Given the description of an element on the screen output the (x, y) to click on. 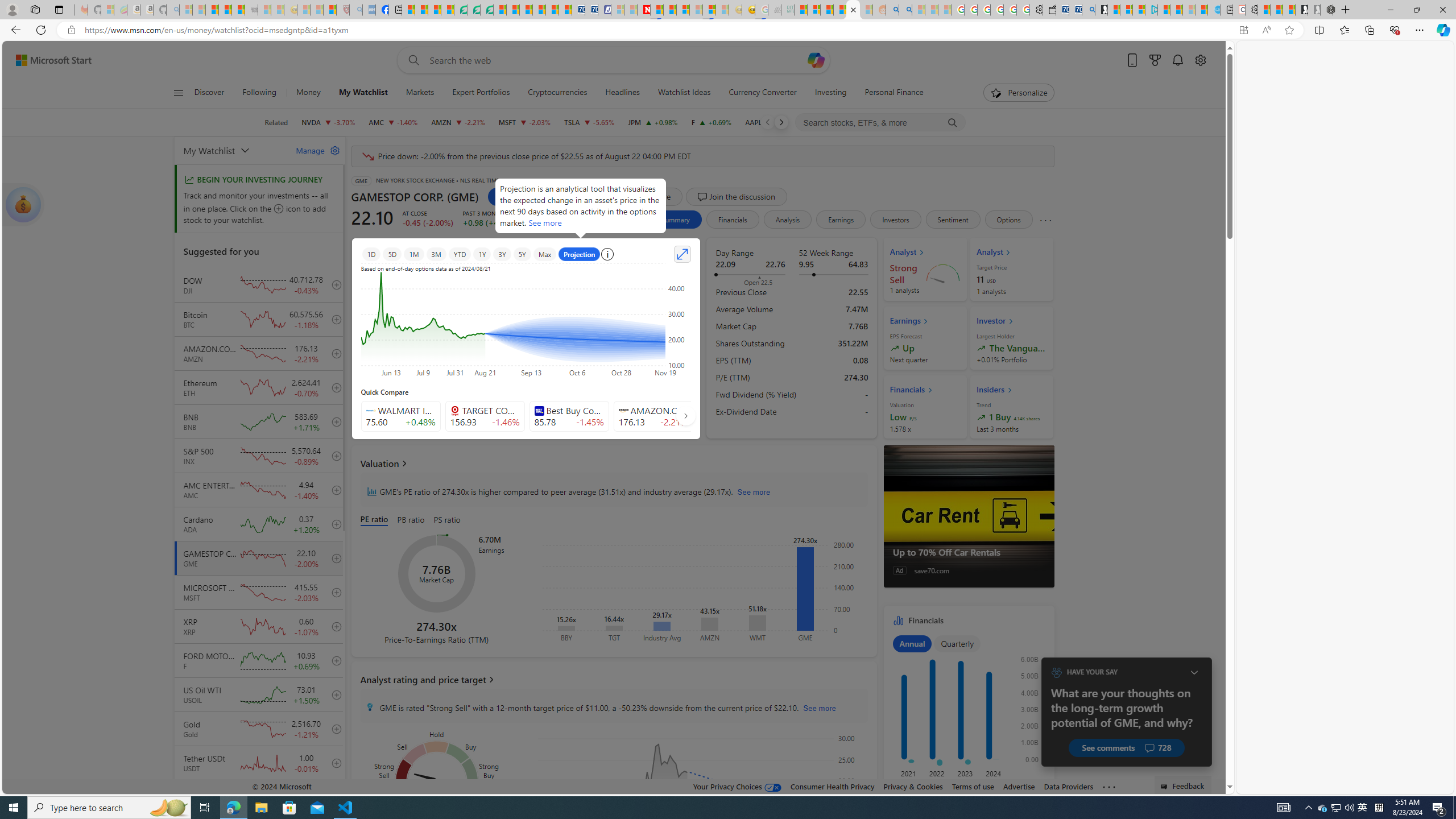
Nordace - Nordace Siena Is Not An Ordinary Backpack (1327, 9)
Microsoft account | Privacy (1139, 9)
Earnings (841, 219)
Privacy & Cookies (913, 786)
AutomationID: finance_carousel_navi_arrow (685, 415)
Student Loan Update: Forgiveness Program Ends This Month (839, 9)
Cryptocurrencies (557, 92)
Advertise (1019, 786)
F FORD MOTOR COMPANY increase 10.93 +0.08 +0.69% (711, 122)
